Given the description of an element on the screen output the (x, y) to click on. 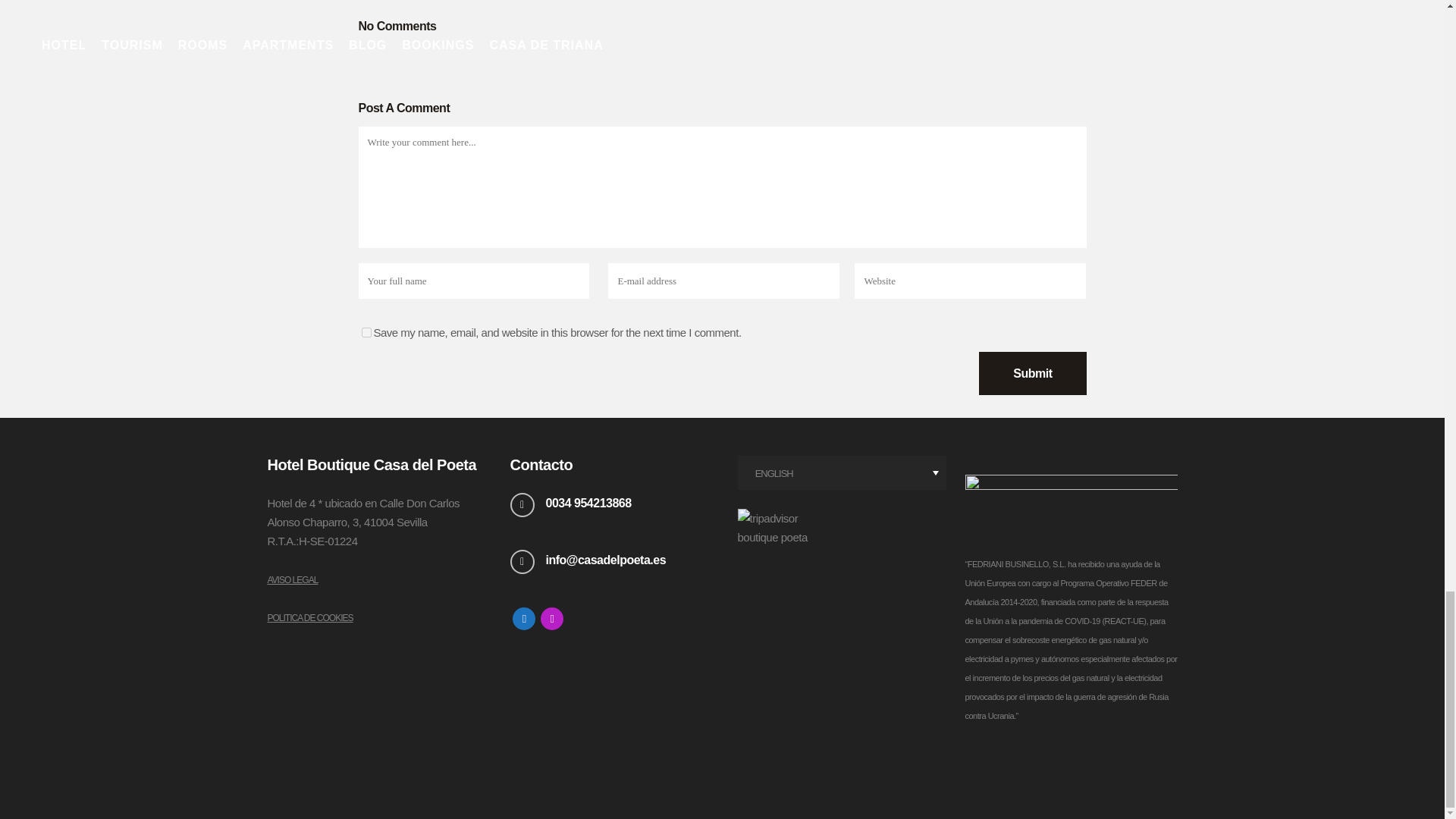
Submit (1032, 373)
ENGLISH (840, 472)
POLITICA DE COOKIES (309, 617)
yes (366, 332)
Submit (1032, 373)
AVISO LEGAL (291, 579)
